Given the description of an element on the screen output the (x, y) to click on. 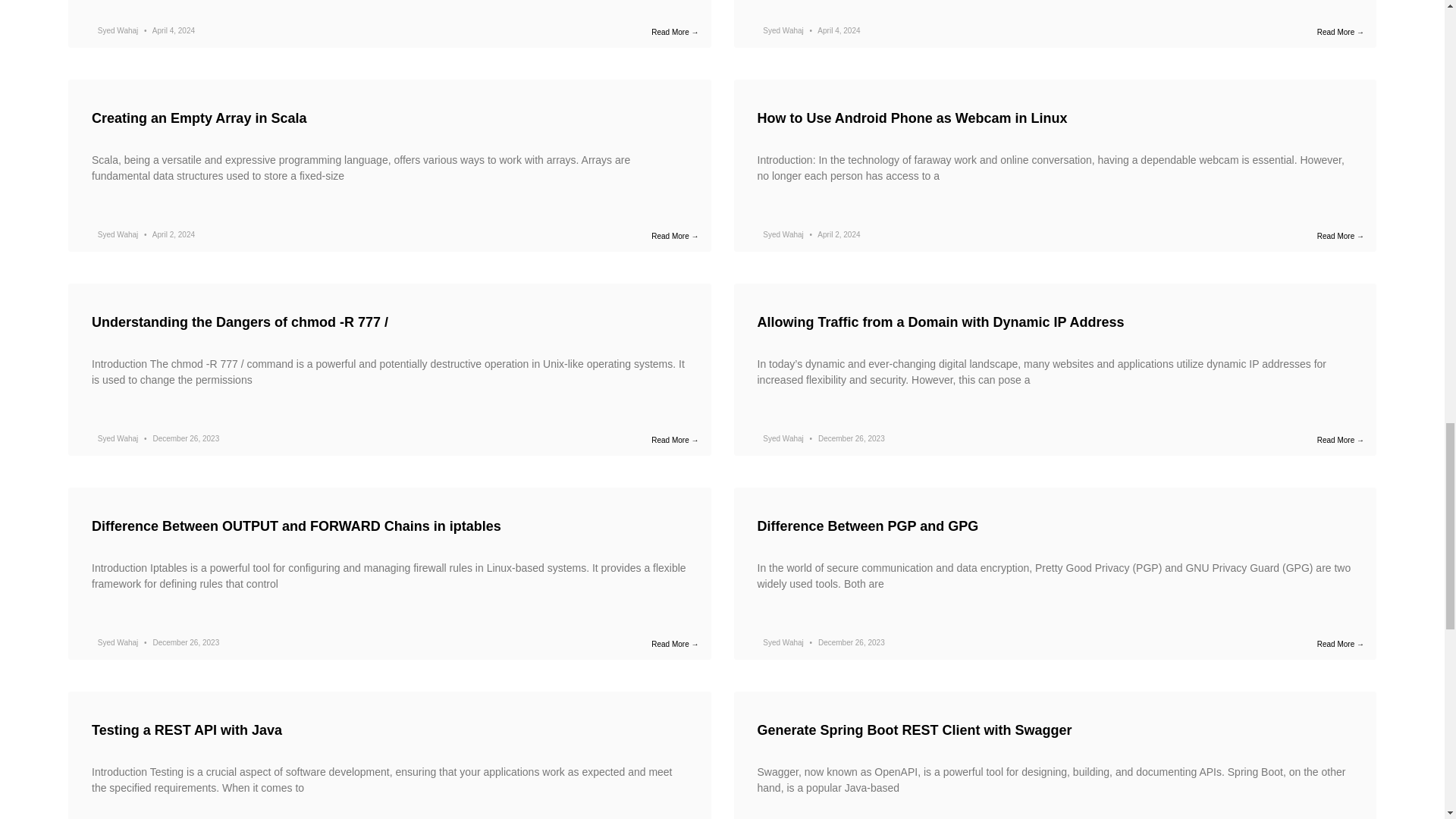
How to Use Android Phone as Webcam in Linux (912, 118)
Creating an Empty Array in Scala (198, 118)
Allowing Traffic from a Domain with Dynamic IP Address (940, 322)
Difference Between OUTPUT and FORWARD Chains in iptables (295, 525)
Difference Between PGP and GPG (867, 525)
